Given the description of an element on the screen output the (x, y) to click on. 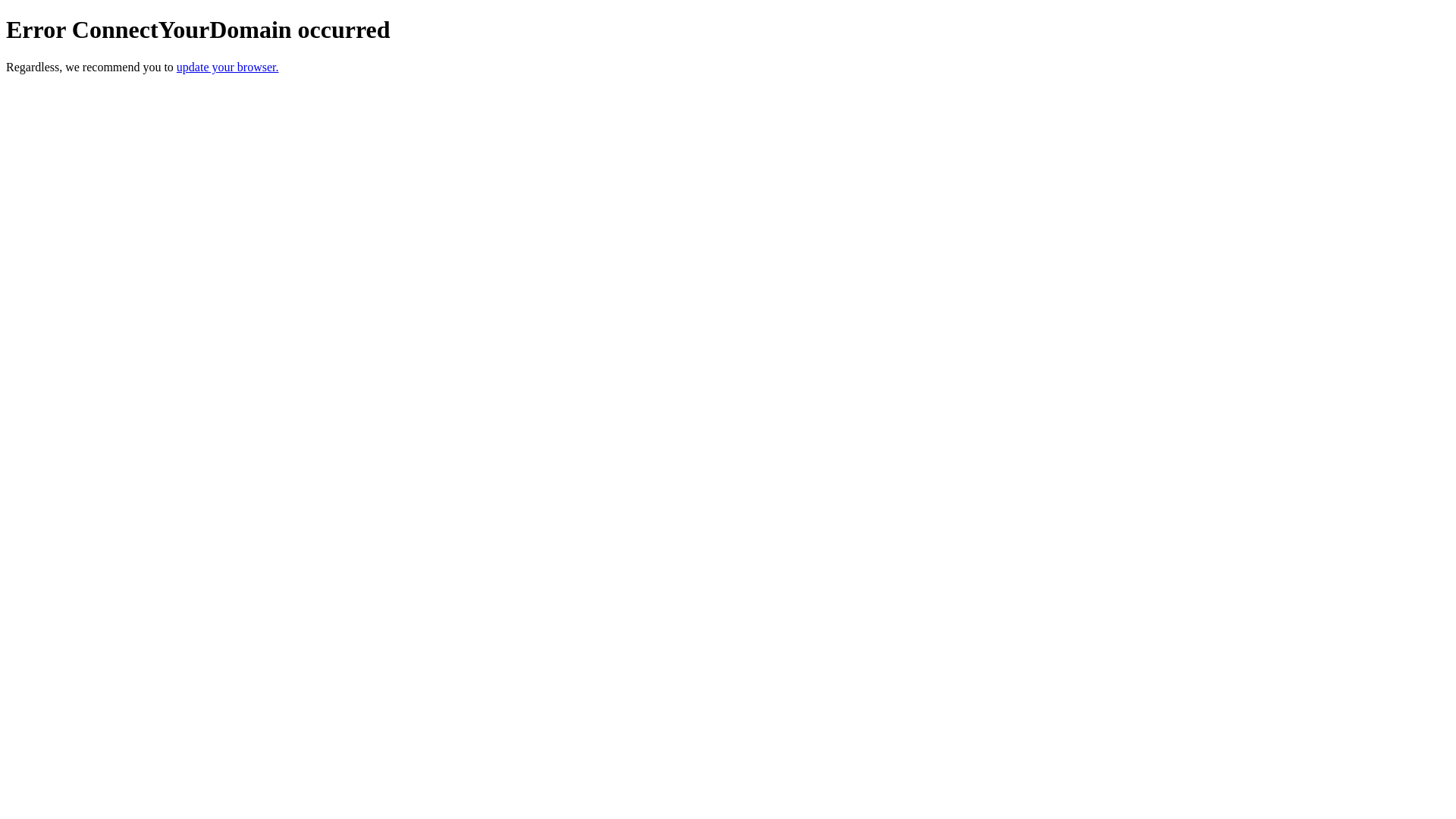
update your browser. Element type: text (227, 66)
